Given the description of an element on the screen output the (x, y) to click on. 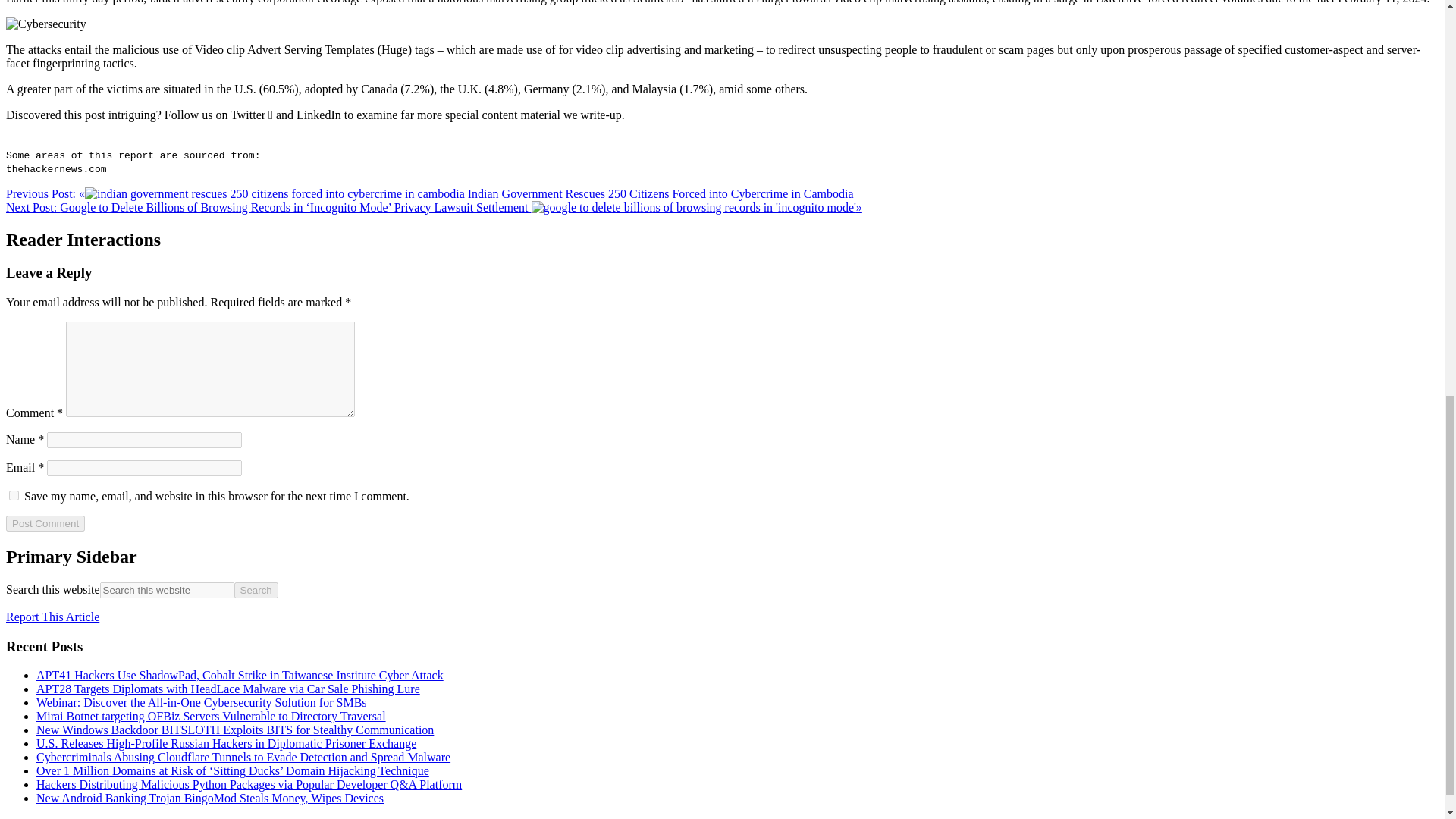
Search (256, 590)
Post Comment (44, 523)
yes (13, 495)
Report This Article (52, 616)
Search (256, 590)
Search (256, 590)
Post Comment (44, 523)
